Given the description of an element on the screen output the (x, y) to click on. 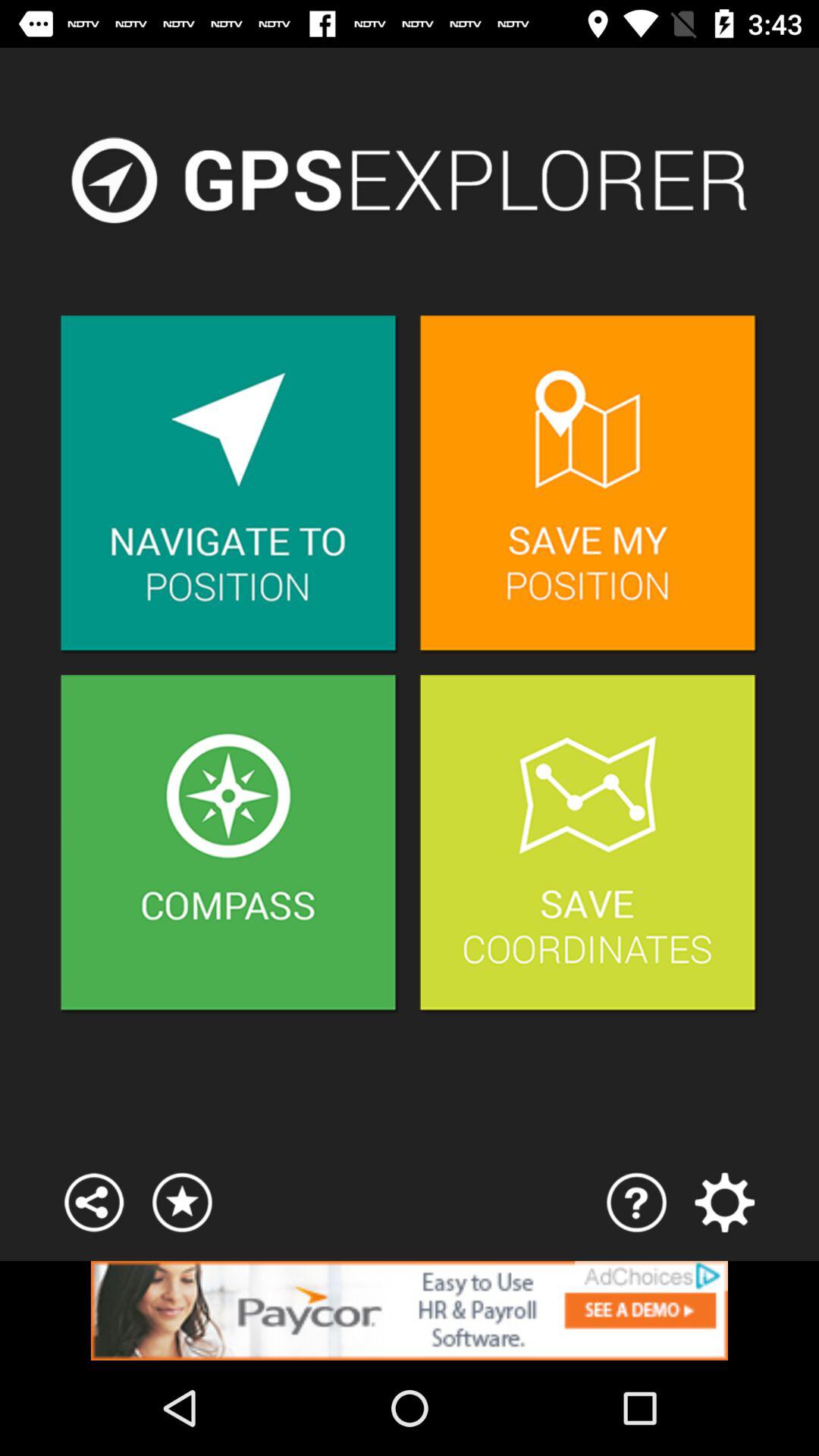
go to help page (636, 1202)
